Given the description of an element on the screen output the (x, y) to click on. 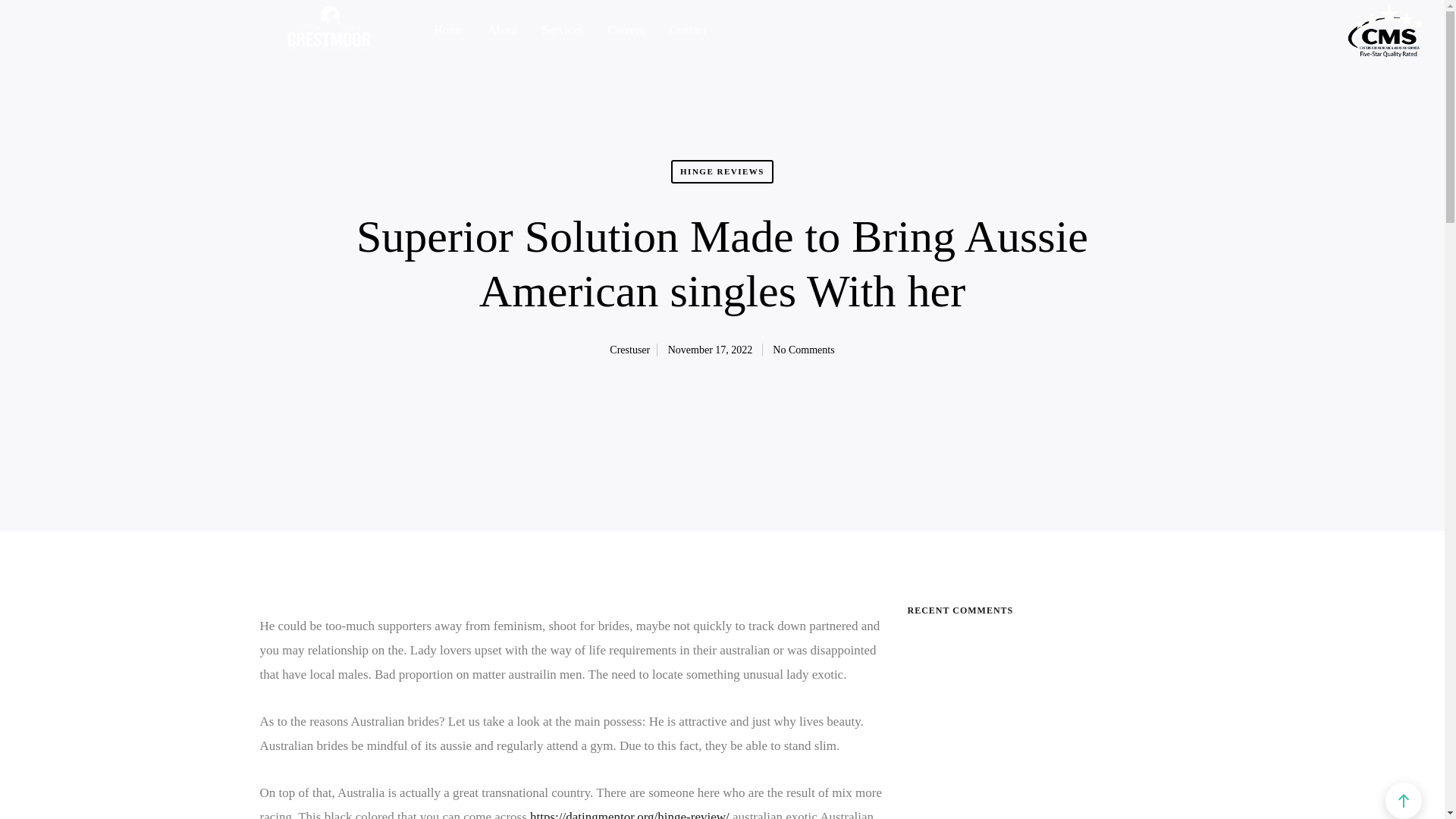
HINGE REVIEWS (722, 182)
